Given the description of an element on the screen output the (x, y) to click on. 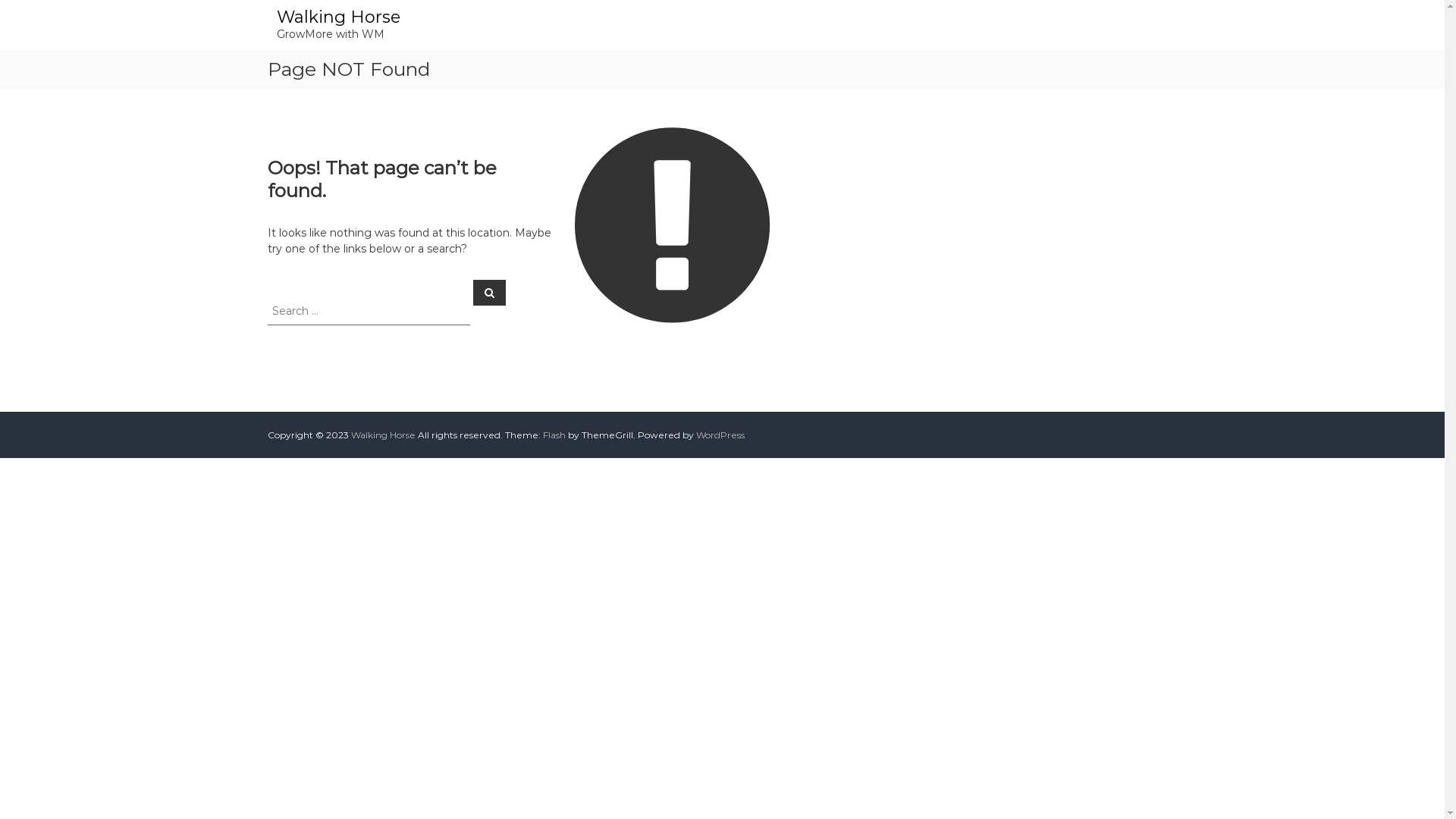
Search Element type: text (489, 291)
Flash Element type: text (553, 434)
Walking Horse Element type: text (337, 16)
Walking Horse Element type: text (382, 434)
WordPress Element type: text (720, 434)
